Given the description of an element on the screen output the (x, y) to click on. 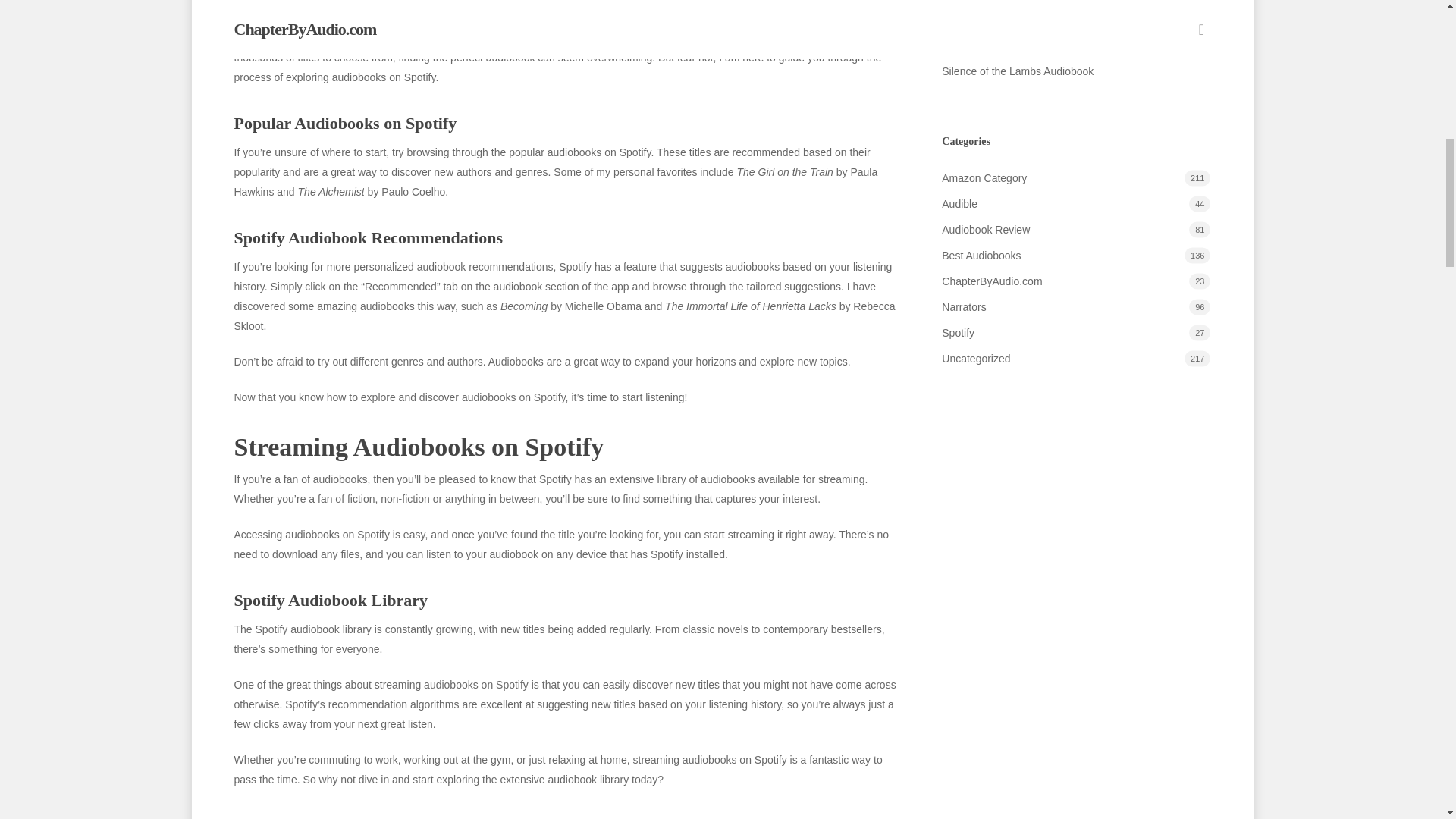
Spotify (1075, 332)
Best Audiobooks (1075, 255)
ChapterByAudio.com (1075, 281)
Silence of the Lambs Audiobook (1075, 71)
Narrators (1075, 306)
Uncategorized (1075, 358)
The Defiant Mate Audiobook (1075, 37)
Amazon Category (1075, 178)
Audible (1075, 203)
Audiobook Review (1075, 229)
